Given the description of an element on the screen output the (x, y) to click on. 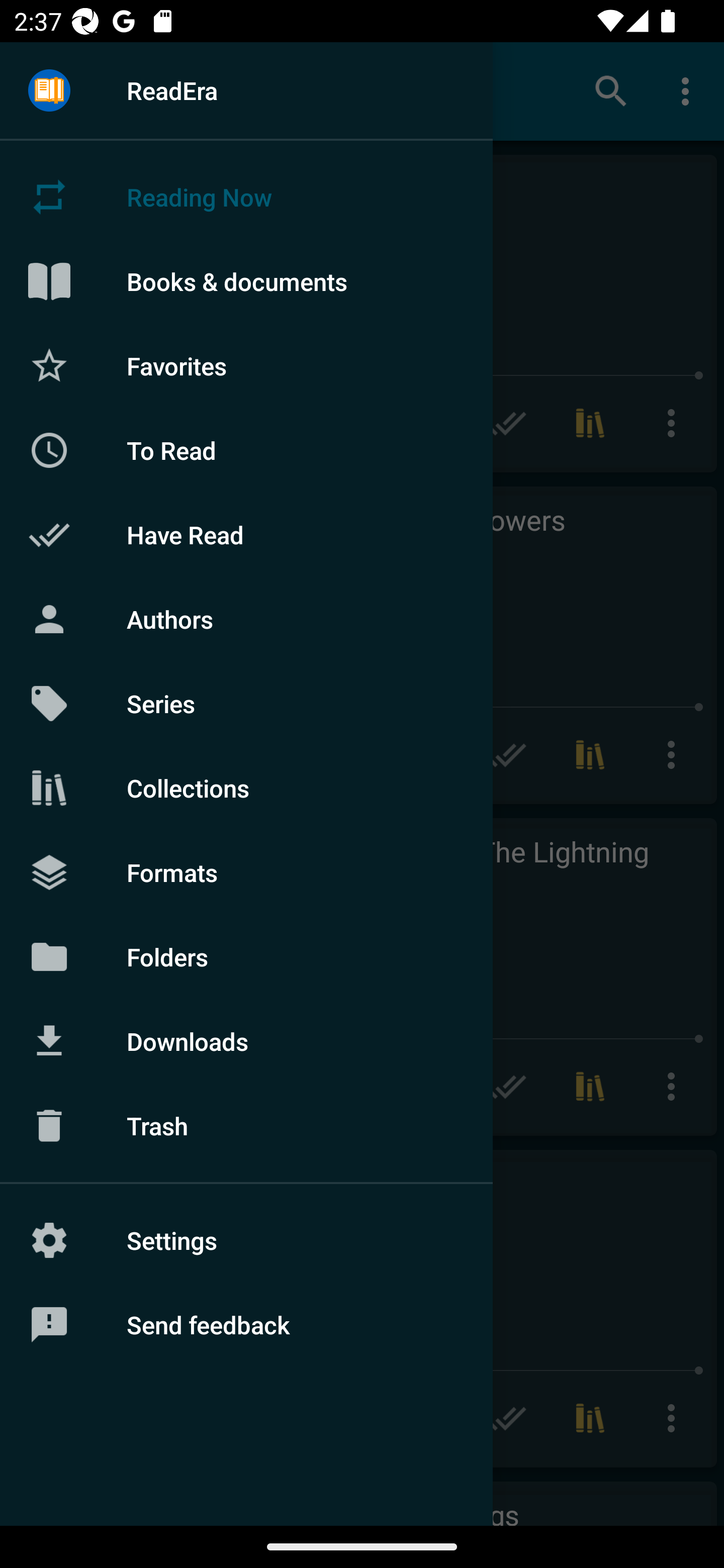
Menu (49, 91)
ReadEra (246, 89)
Search books & documents (611, 90)
More options (688, 90)
Reading Now (246, 197)
Books & documents (246, 281)
Favorites (246, 365)
To Read (246, 449)
Have Read (246, 534)
Authors (246, 619)
Series (246, 703)
Collections (246, 787)
Formats (246, 871)
Folders (246, 956)
Downloads (246, 1040)
Trash (246, 1125)
Settings (246, 1239)
Send feedback (246, 1324)
